Given the description of an element on the screen output the (x, y) to click on. 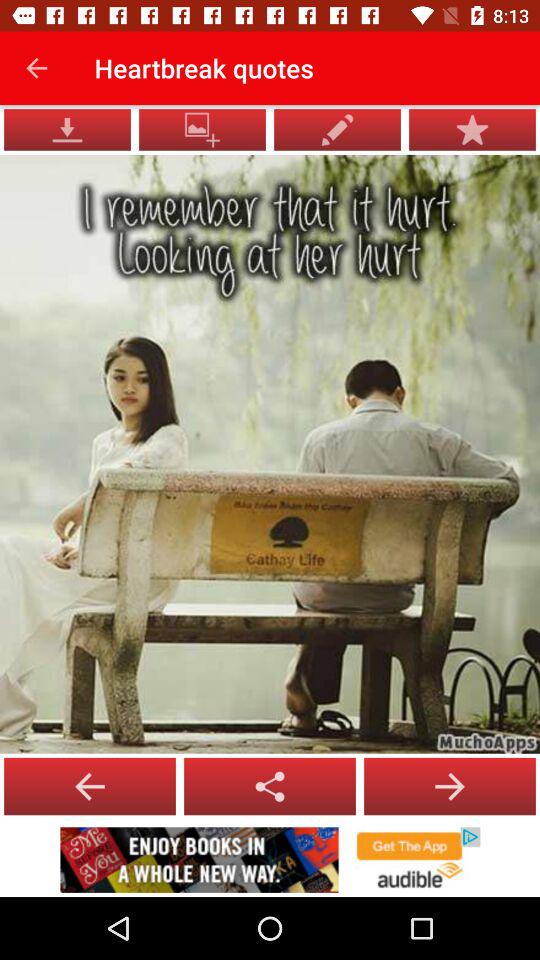
advertisement page (270, 859)
